Given the description of an element on the screen output the (x, y) to click on. 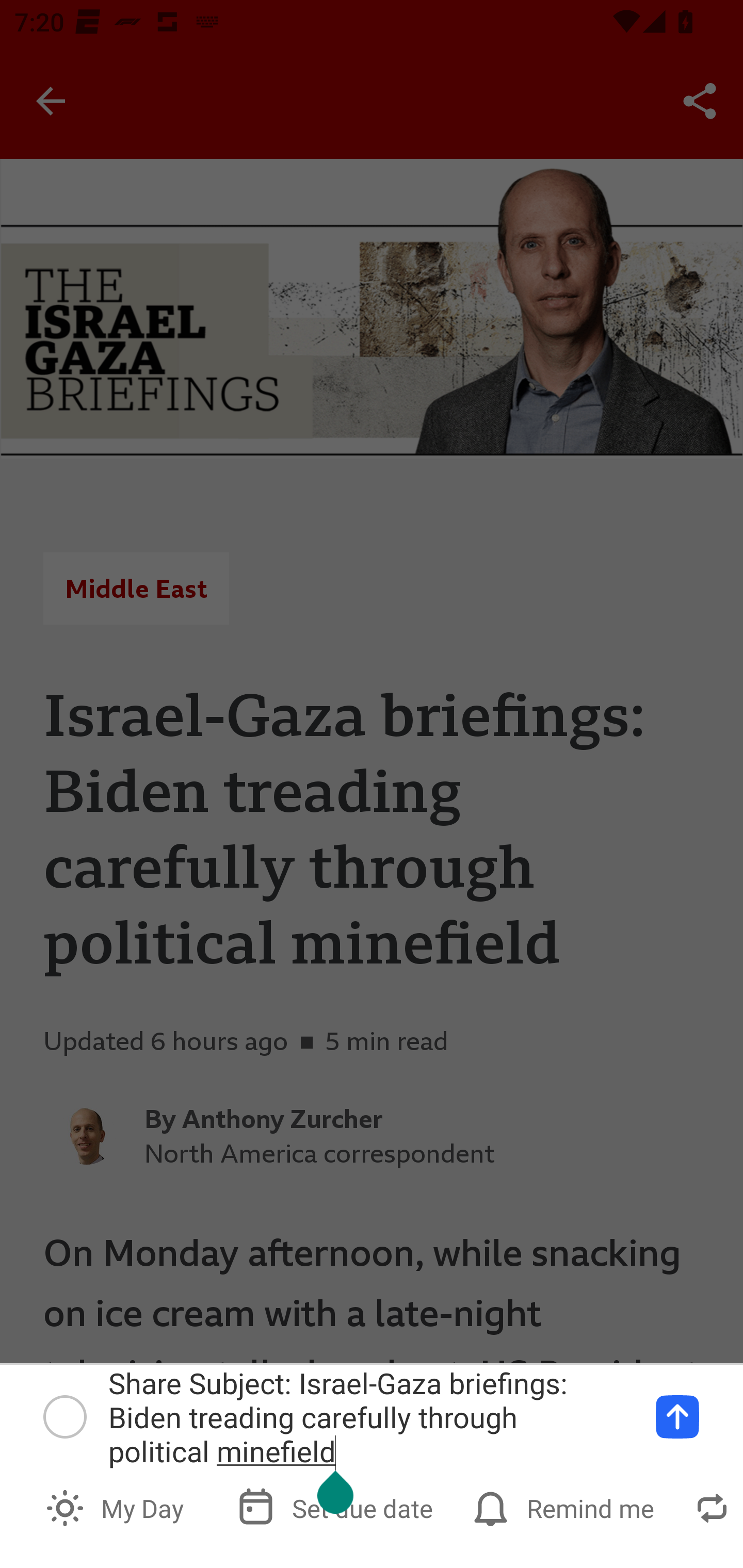
Add a task (676, 1416)
My Day (116, 1507)
Set due date (337, 1507)
Remind me (565, 1507)
